Given the description of an element on the screen output the (x, y) to click on. 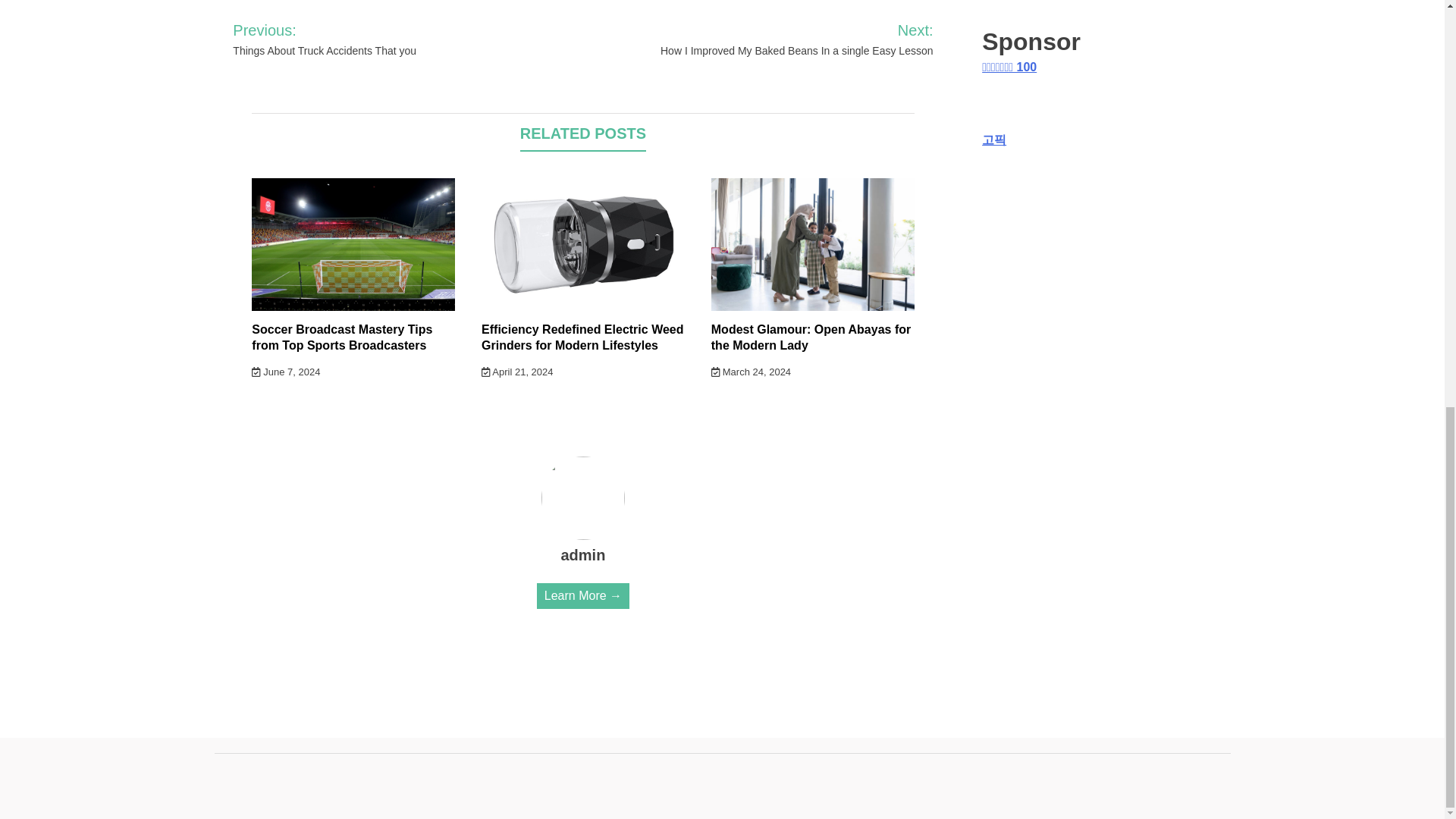
March 24, 2024 (750, 371)
April 21, 2024 (517, 371)
Next: How I Improved My Baked Beans In a single Easy Lesson (777, 38)
Modest Glamour: Open Abayas for the Modern Lady (811, 337)
June 7, 2024 (285, 371)
Previous: Things About Truck Accidents That you (357, 38)
Soccer Broadcast Mastery Tips from Top Sports Broadcasters (341, 337)
